Given the description of an element on the screen output the (x, y) to click on. 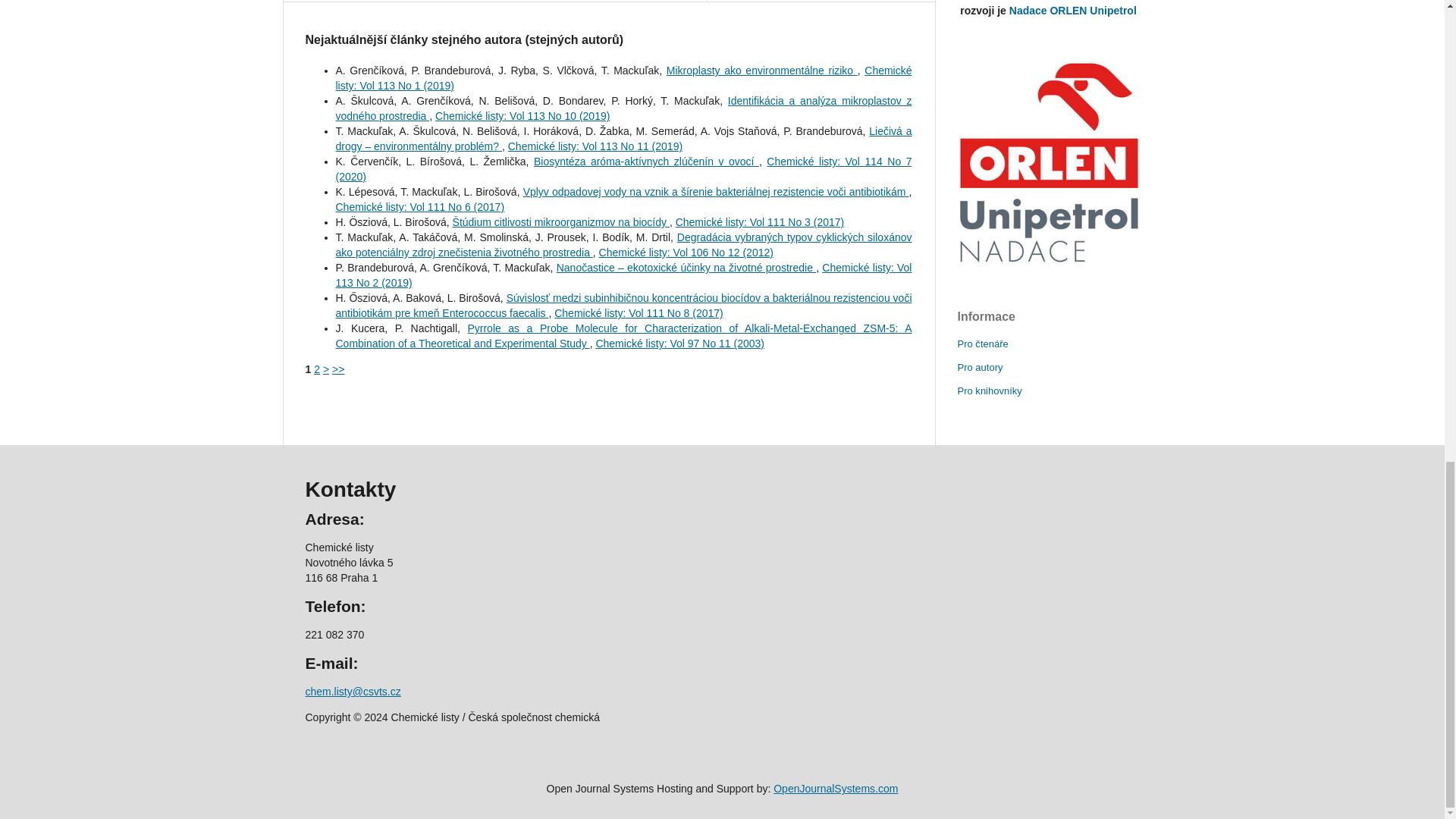
Nadace ORLEN Unipetrol (1047, 161)
Nadace ORLEN Unipetrol (1073, 10)
